Given the description of an element on the screen output the (x, y) to click on. 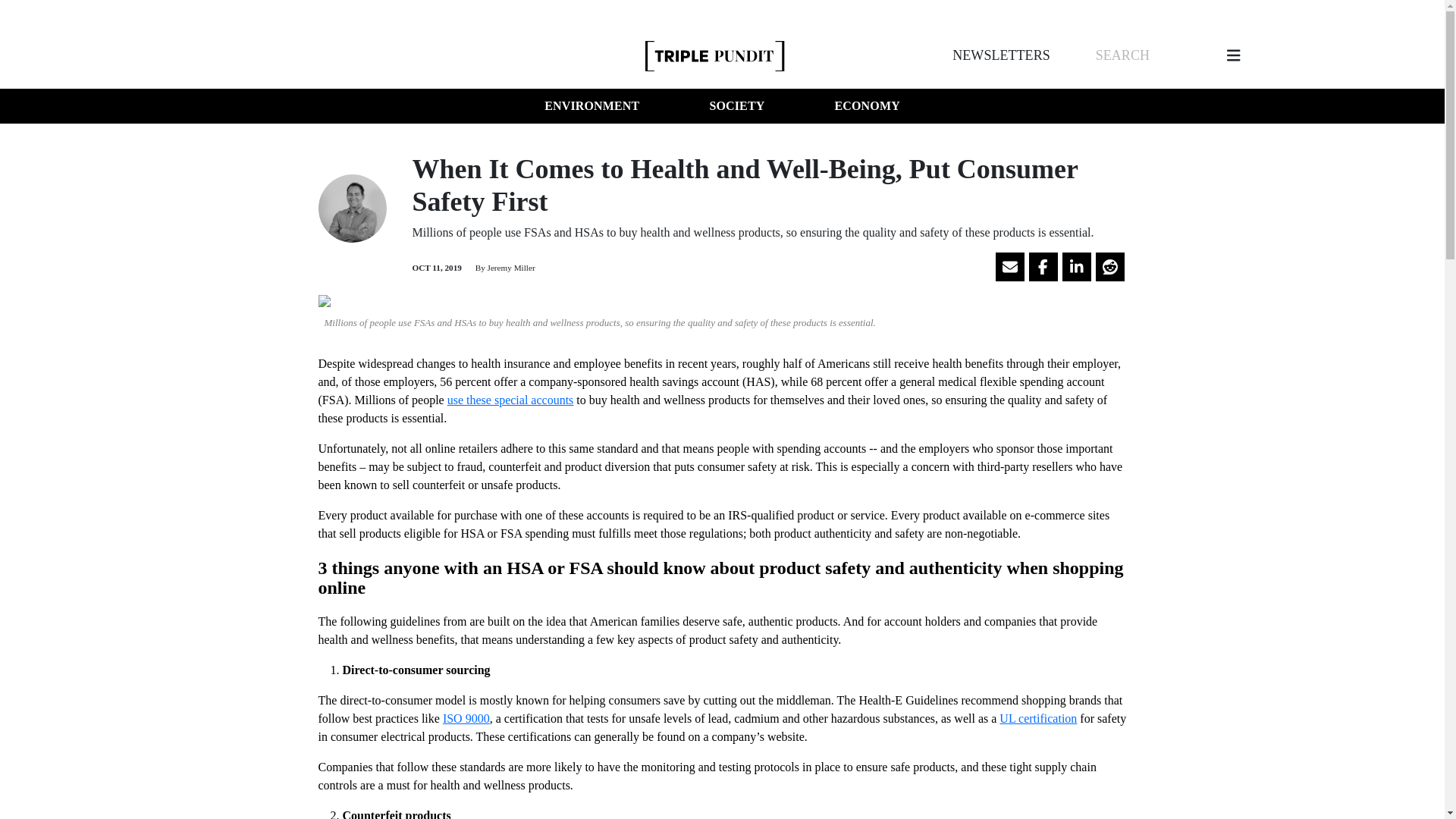
SEARCH (1122, 55)
ENVIRONMENT (591, 105)
UL certification (1037, 717)
ISO 9000 (465, 717)
By Jeremy Miller (504, 266)
SOCIETY (736, 105)
use these special accounts (509, 399)
ECONOMY (866, 105)
